Given the description of an element on the screen output the (x, y) to click on. 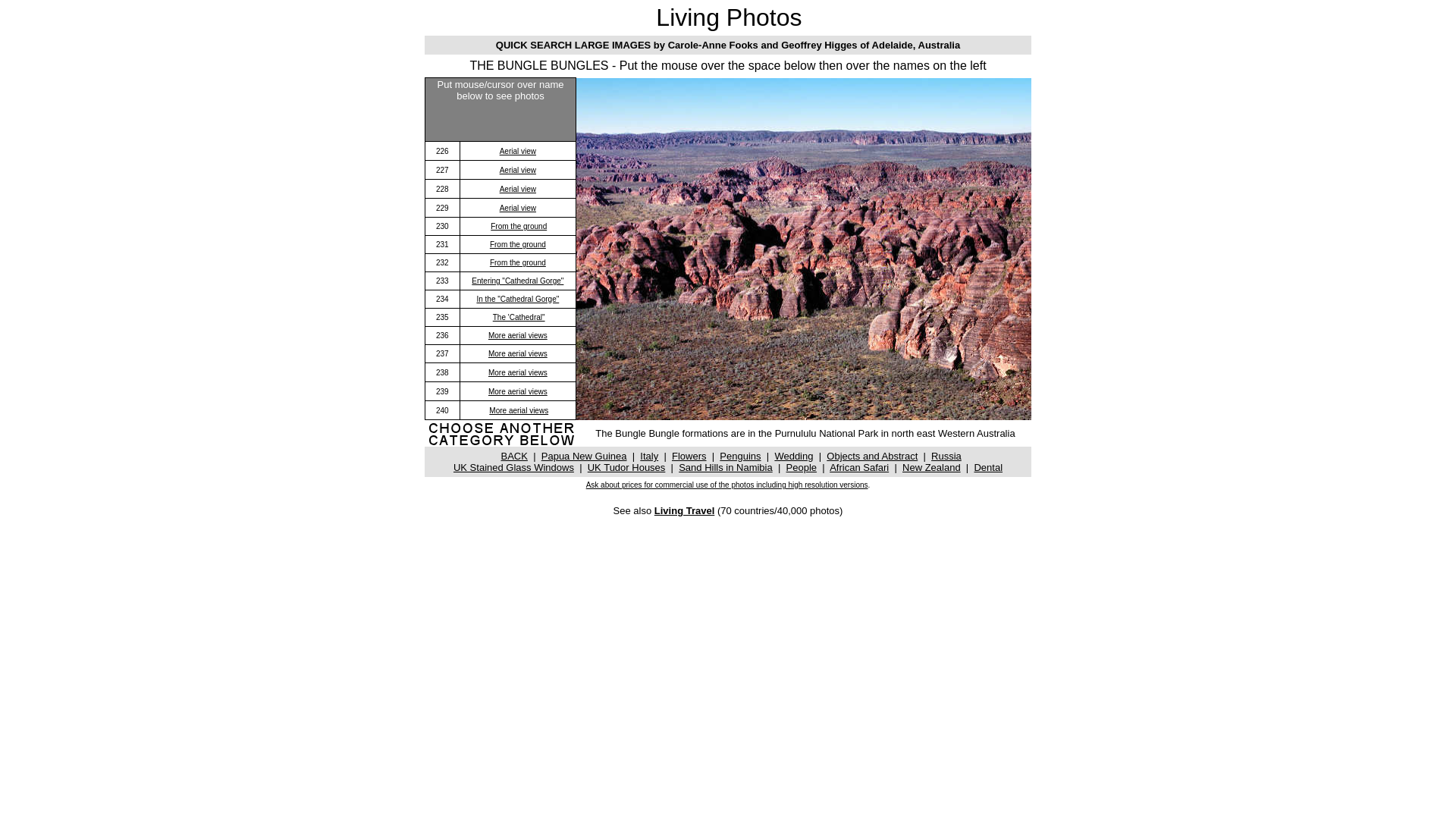
Objects and Abstract Element type: text (871, 455)
UK Stained Glass Windows Element type: text (513, 467)
BACK Element type: text (514, 454)
Living Travel Element type: text (684, 510)
Wedding Element type: text (793, 455)
Papua New Guinea Element type: text (584, 455)
African Safari Element type: text (858, 467)
Aerial view Element type: text (517, 189)
Dental Element type: text (987, 467)
In the "Cathedral Gorge" Element type: text (517, 297)
Flowers Element type: text (688, 455)
From the ground Element type: text (517, 262)
Aerial view Element type: text (517, 151)
Entering "Cathedral Gorge" Element type: text (517, 280)
From the ground Element type: text (517, 244)
More aerial views Element type: text (517, 372)
Penguins Element type: text (739, 455)
More aerial views Element type: text (517, 353)
New Zealand Element type: text (931, 467)
UK Tudor Houses Element type: text (626, 467)
Russia Element type: text (946, 455)
Sand Hills in Namibia Element type: text (725, 467)
People Element type: text (801, 467)
Italy Element type: text (649, 455)
From the ground Element type: text (518, 226)
More aerial views Element type: text (518, 410)
More aerial views Element type: text (517, 390)
Aerial view Element type: text (517, 207)
The 'Cathedral" Element type: text (518, 317)
More aerial views Element type: text (517, 335)
Aerial view Element type: text (517, 169)
